Given the description of an element on the screen output the (x, y) to click on. 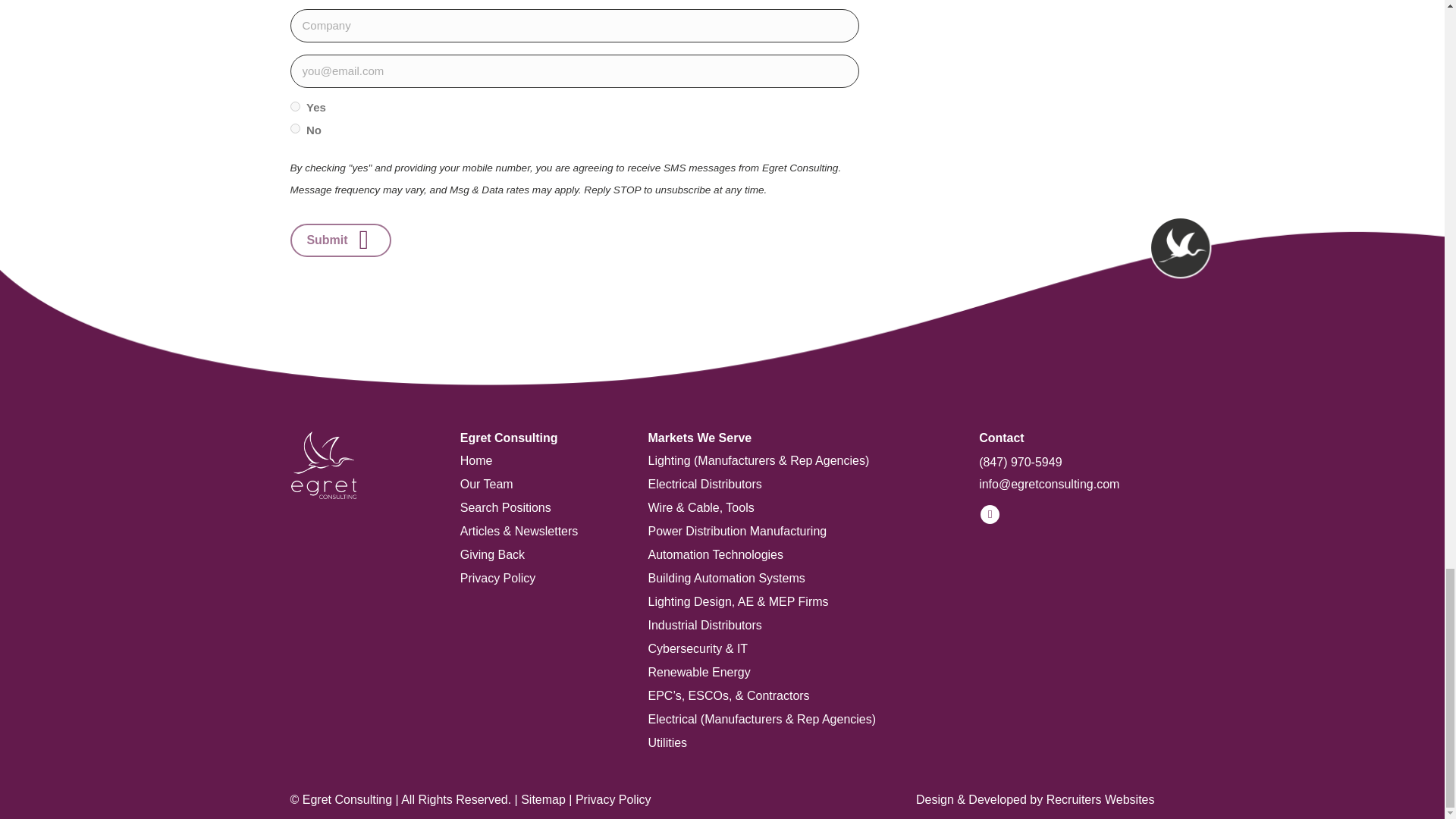
Privacy Policy (538, 572)
Home (538, 455)
Submit (339, 240)
Our Team (538, 478)
Egret Logo - White thick (322, 464)
Electrical Distributors (798, 478)
Submit (339, 240)
No (294, 128)
Yes (294, 106)
Automation Technologies (798, 549)
Power Distribution Manufacturing (798, 526)
Search Positions (538, 502)
Giving Back (538, 549)
